Given the description of an element on the screen output the (x, y) to click on. 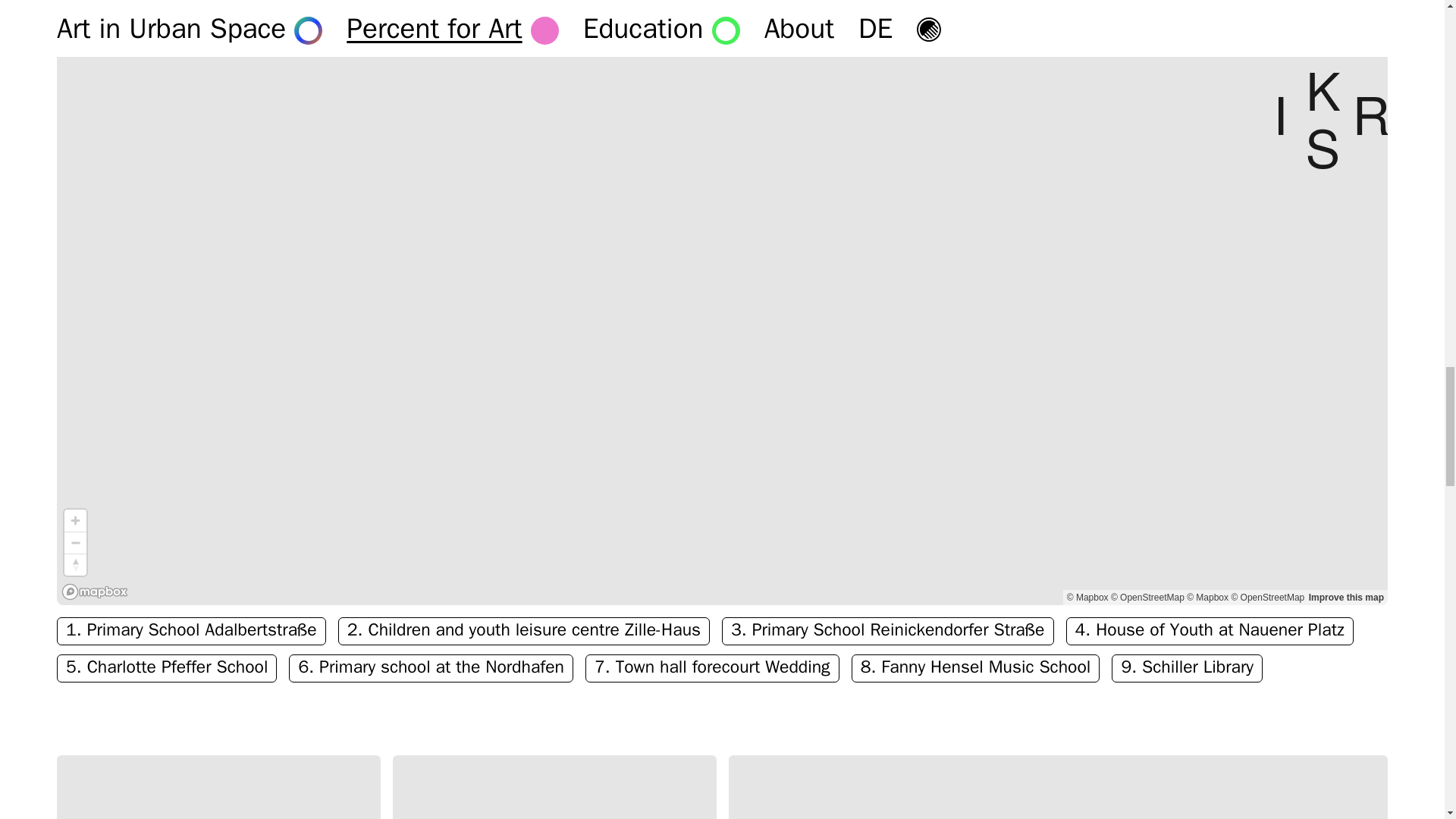
8. Fanny Hensel Music School (975, 668)
7. Town hall forecourt Wedding (712, 668)
2. Children and youth leisure centre Zille-Haus (523, 631)
Zoom out (74, 542)
Mapbox (1207, 597)
Improve this map (1346, 597)
6. Primary school at the Nordhafen (430, 668)
OpenStreetMap (1267, 597)
4. House of Youth at Nauener Platz (1209, 631)
5. Charlotte Pfeffer School (166, 668)
